Given the description of an element on the screen output the (x, y) to click on. 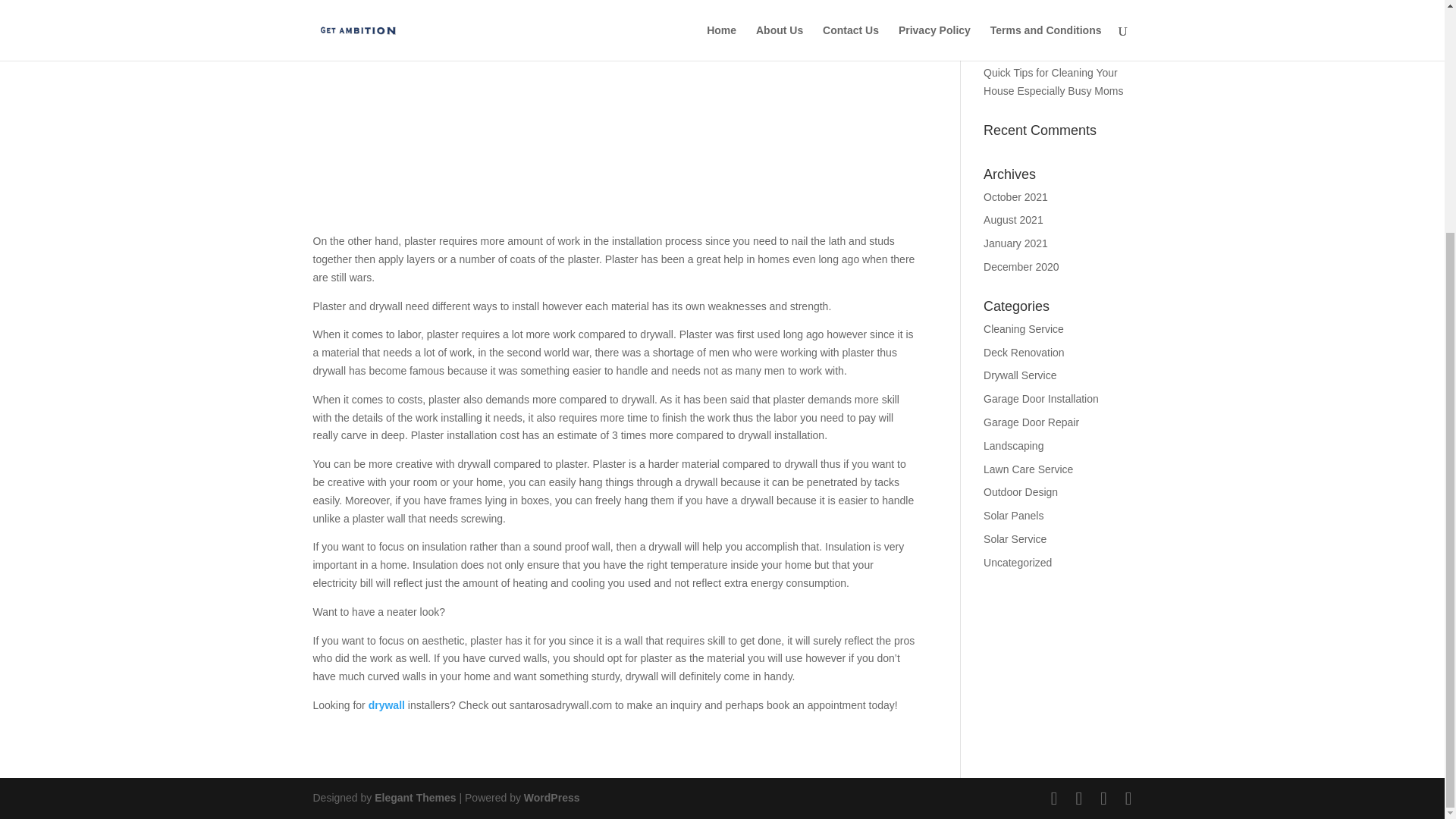
Lawn Care Service (1028, 469)
Garage Door Installation (1041, 398)
Garage Door Repair (1031, 422)
Declutter your life to increase productivity (1052, 7)
Deck Renovation (1024, 352)
Premium WordPress Themes (414, 797)
Uncategorized (1017, 562)
December 2020 (1021, 266)
Quick Tips for Cleaning Your House Especially Busy Moms  (1054, 81)
Landscaping (1013, 445)
